Given the description of an element on the screen output the (x, y) to click on. 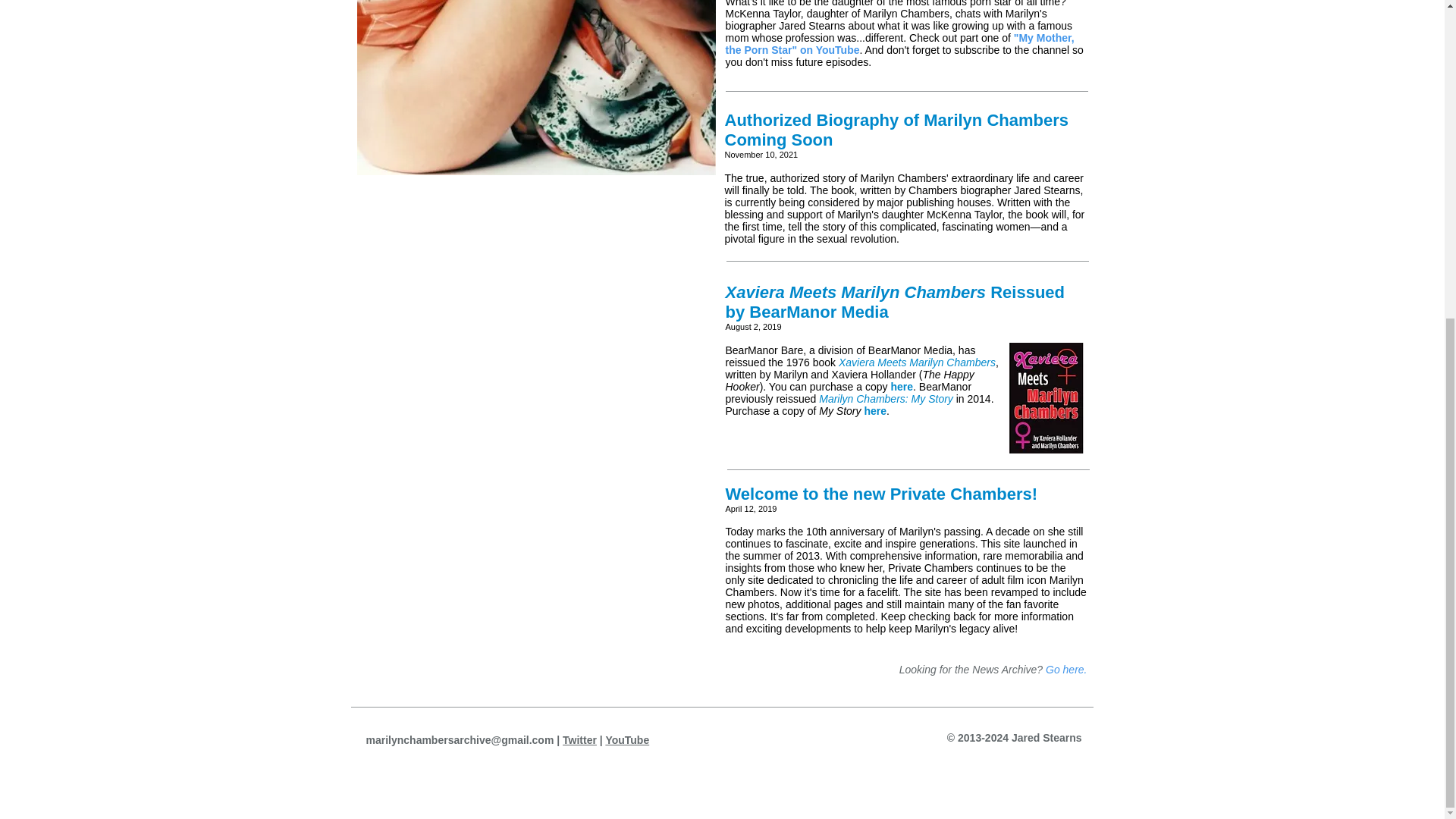
YouTube (627, 739)
here (874, 410)
Marilyn Chambers: My Story (885, 398)
Marilyn Chambers, circa 1973 (535, 87)
Twitter (579, 739)
Go here. (1065, 669)
Xaviera Meets Marilyn Chambers (916, 362)
here (900, 386)
"My Mother, the Porn Star" on YouTube (899, 43)
